Given the description of an element on the screen output the (x, y) to click on. 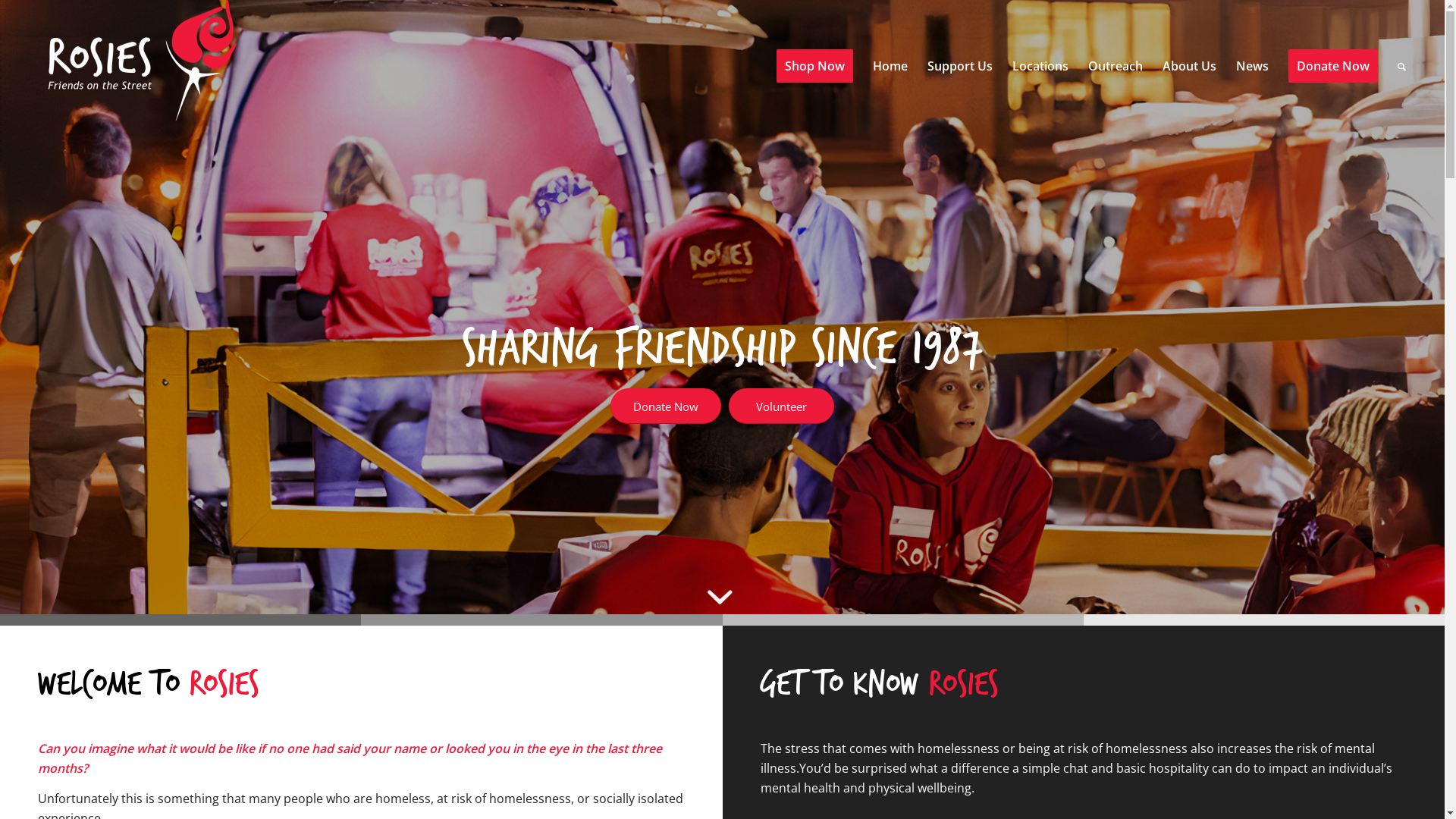
Donate Now Element type: text (665, 405)
About Us Element type: text (1189, 66)
Home Element type: text (889, 66)
News Element type: text (1252, 66)
Support Us Element type: text (959, 66)
Volunteer Element type: text (781, 405)
Outreach Element type: text (1115, 66)
Donate Now Element type: text (1332, 66)
Locations Element type: text (1040, 66)
Shop Now Element type: text (814, 66)
